Given the description of an element on the screen output the (x, y) to click on. 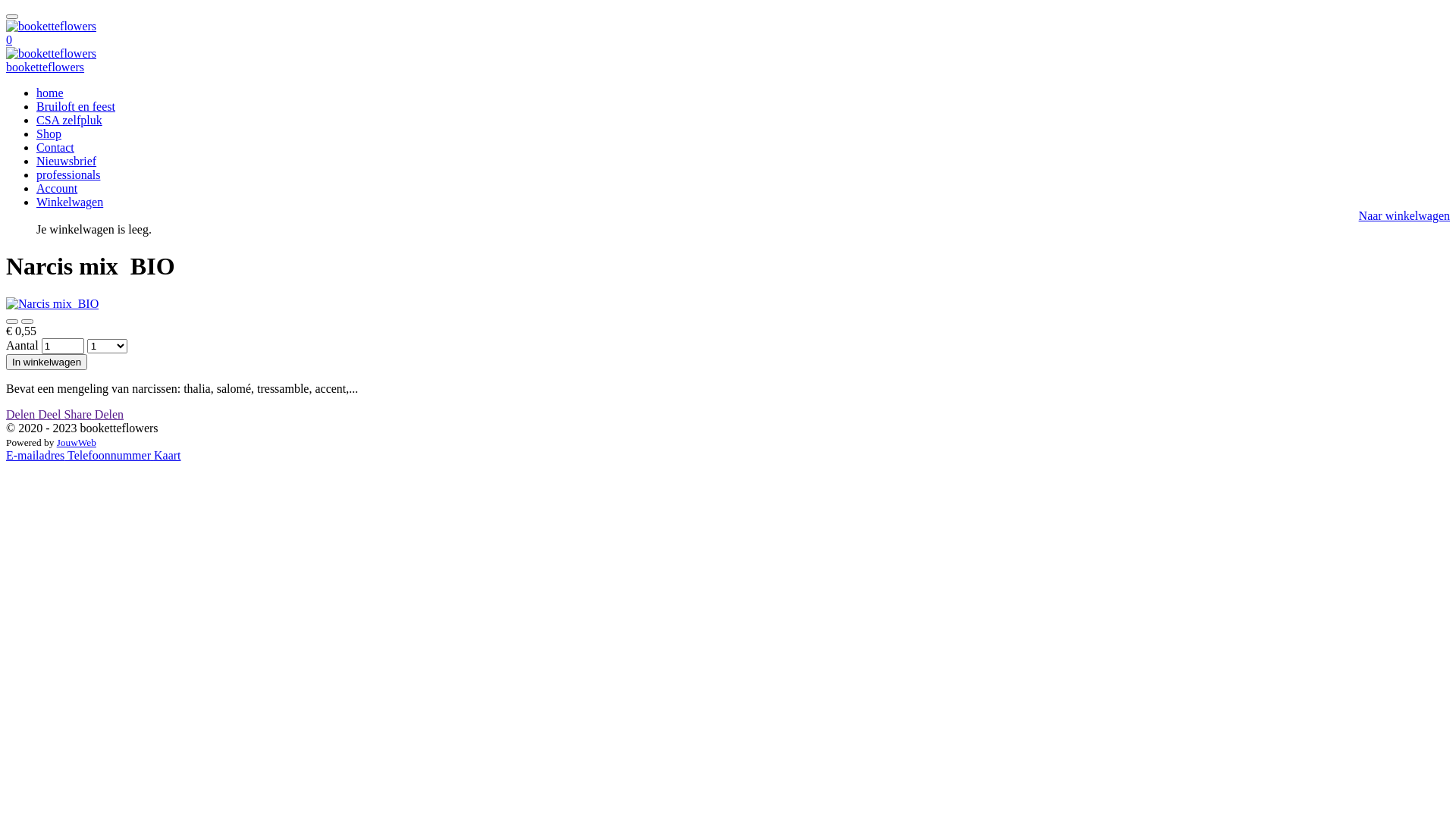
Account Element type: text (56, 188)
Shop Element type: text (48, 133)
booketteflowers Element type: hover (51, 26)
Deel Element type: text (50, 413)
JouwWeb Element type: text (76, 442)
Share Element type: text (78, 413)
CSA zelfpluk Element type: text (69, 119)
booketteflowers Element type: hover (51, 53)
Naar winkelwagen Element type: text (1403, 215)
0 Element type: text (9, 39)
Contact Element type: text (55, 147)
Winkelwagen Element type: text (69, 201)
In winkelwagen Element type: text (46, 362)
Bruiloft en feest Element type: text (75, 106)
E-mailadres Element type: text (36, 454)
Kaart Element type: text (167, 454)
Telefoonnummer Element type: text (110, 454)
Nieuwsbrief Element type: text (66, 160)
Delen Element type: text (21, 413)
booketteflowers Element type: text (45, 66)
home Element type: text (49, 92)
Delen Element type: text (108, 413)
professionals Element type: text (68, 174)
